Given the description of an element on the screen output the (x, y) to click on. 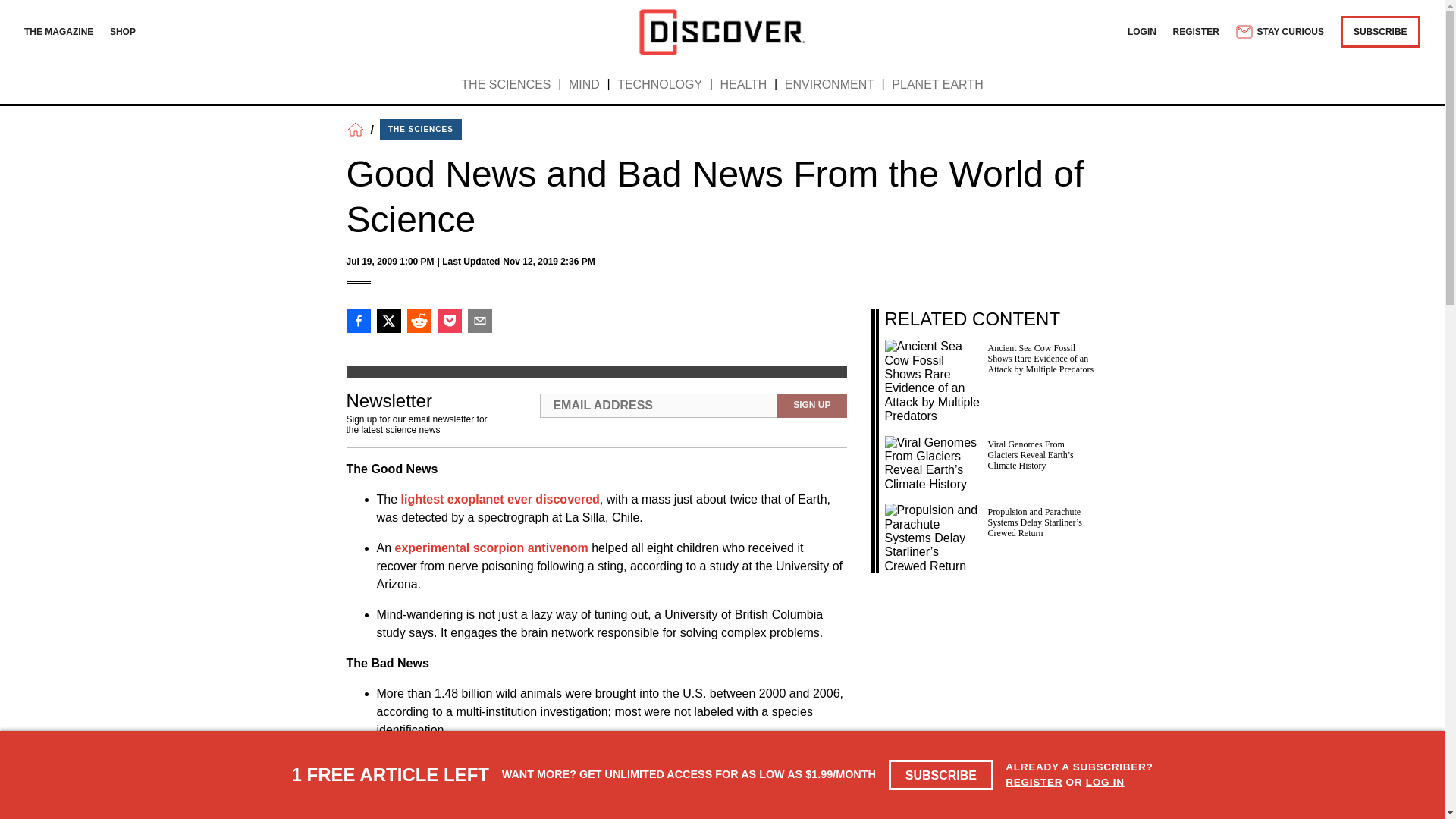
lightest exoplanet ever discovered (500, 499)
LOGIN (1141, 31)
LOG IN (1105, 781)
SIGN UP (811, 405)
PLANET EARTH (936, 84)
more likely to choose unhealthy ones (646, 778)
MIND (584, 84)
TECHNOLOGY (659, 84)
REGISTER (1196, 31)
